Given the description of an element on the screen output the (x, y) to click on. 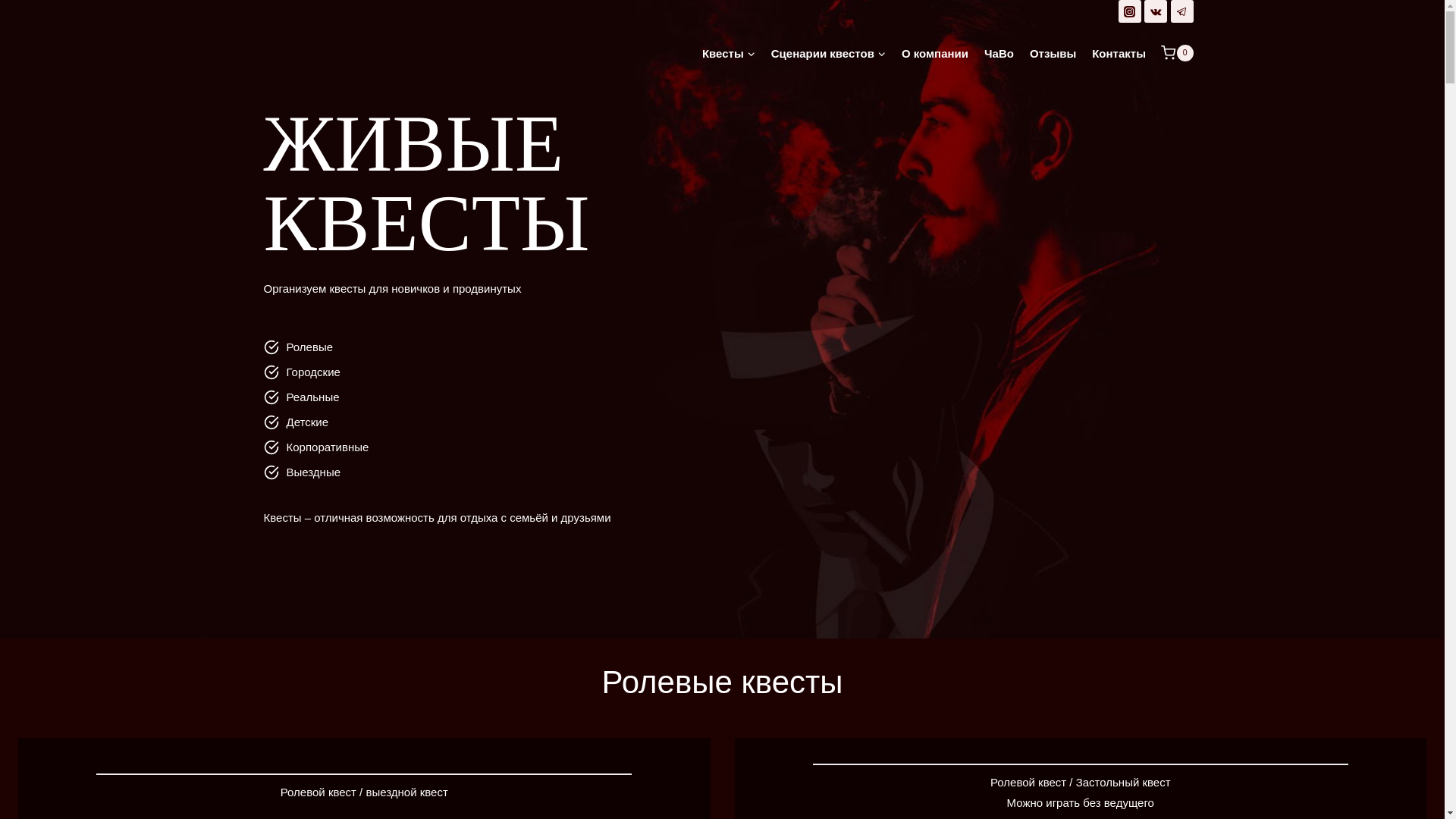
0 Element type: text (1176, 52)
